Given the description of an element on the screen output the (x, y) to click on. 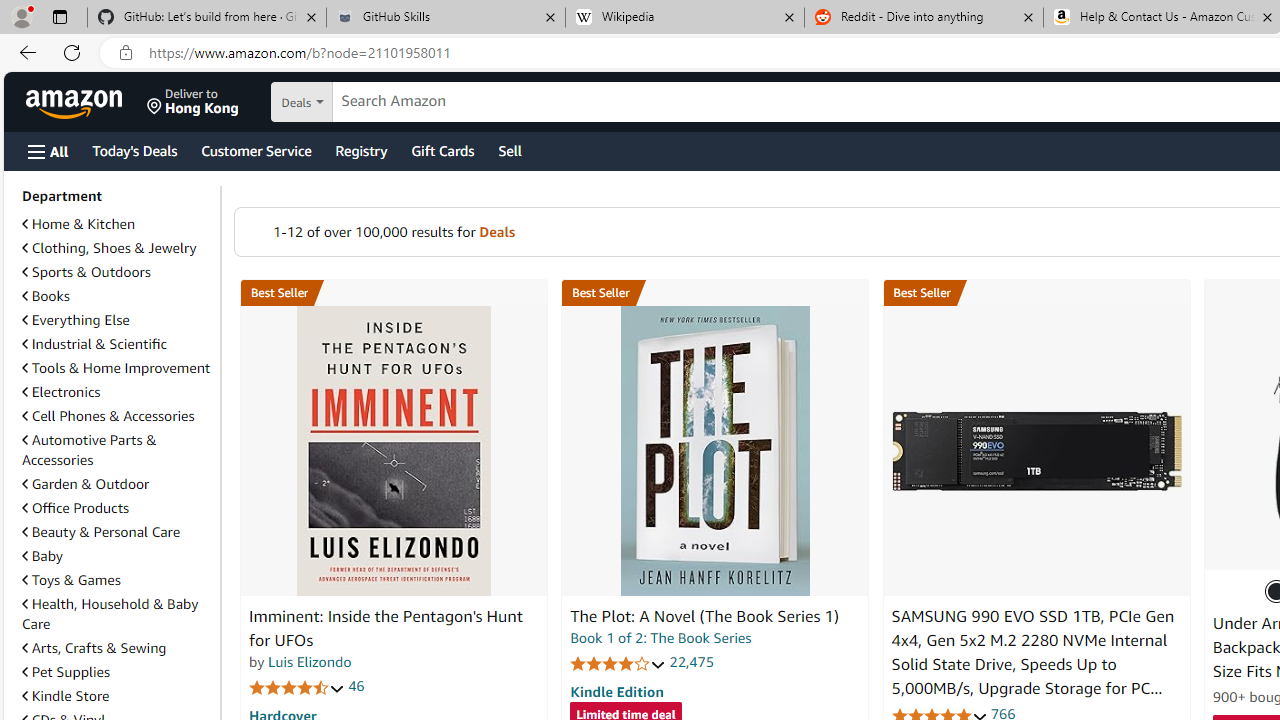
Imminent: Inside the Pentagon's Hunt for UFOs (386, 628)
Industrial & Scientific (117, 344)
Pet Supplies (117, 671)
Health, Household & Baby Care (117, 614)
Cell Phones & Accessories (107, 415)
Tools & Home Improvement (116, 368)
Electronics (61, 392)
Automotive Parts & Accessories (117, 449)
GitHub Skills (445, 17)
Customer Service (256, 150)
Best Seller in Internal Solid State Drives (1036, 293)
Arts, Crafts & Sewing (93, 647)
Tools & Home Improvement (117, 367)
Sports & Outdoors (117, 272)
